Given the description of an element on the screen output the (x, y) to click on. 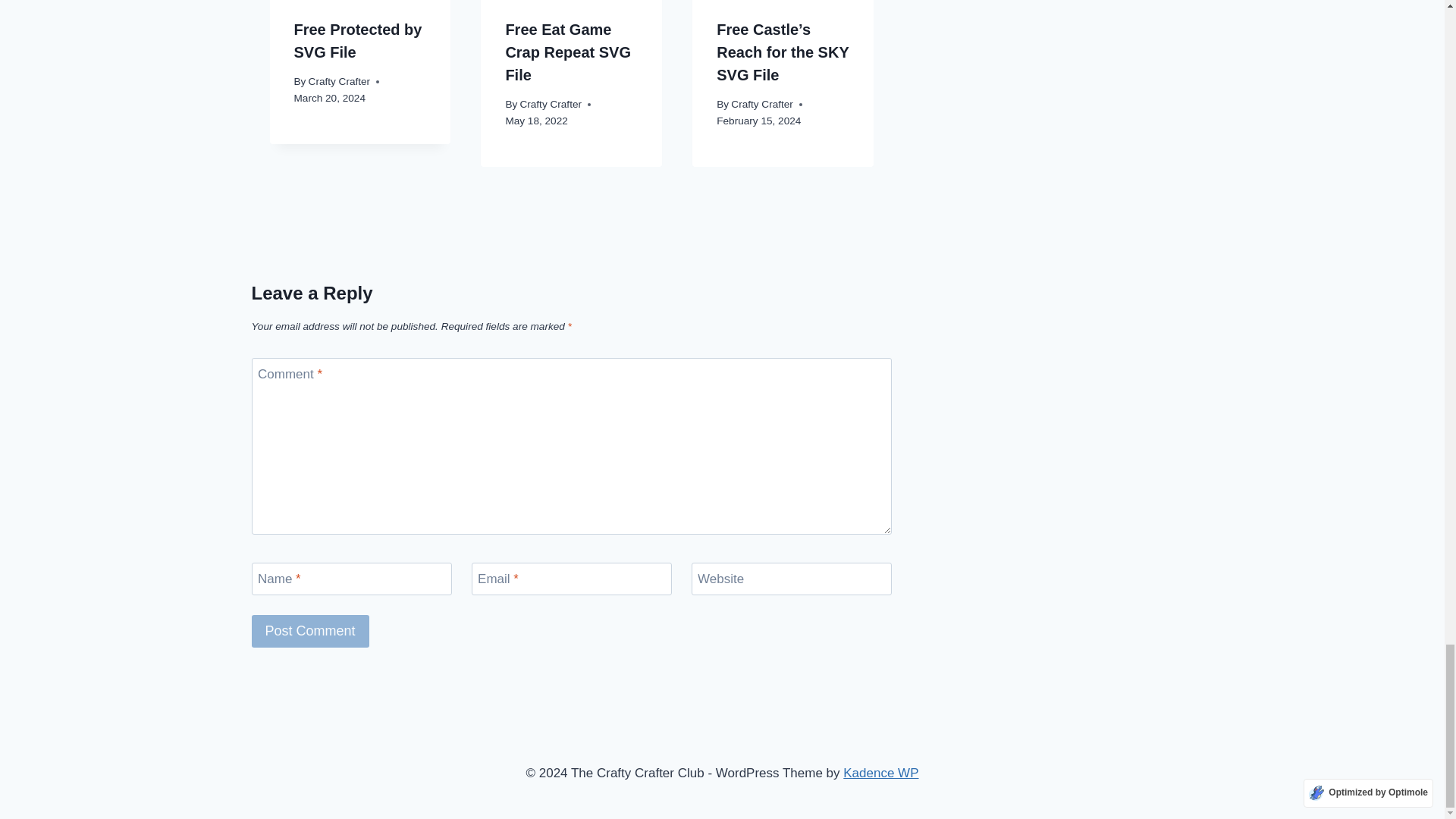
Post Comment (310, 631)
